Given the description of an element on the screen output the (x, y) to click on. 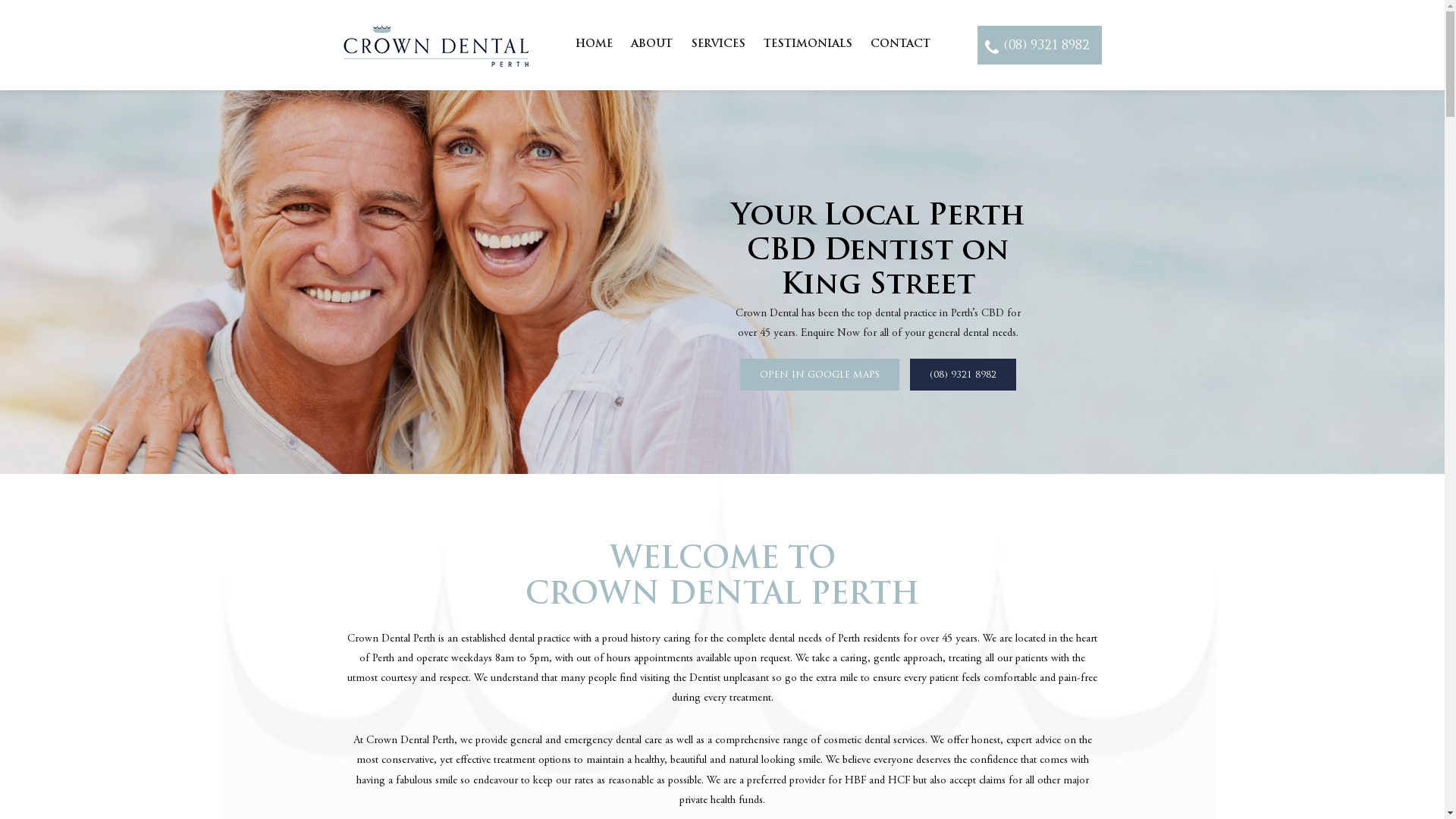
SERVICES Element type: text (717, 44)
Skip to content Element type: text (0, 0)
ABOUT Element type: text (651, 44)
CONTACT Element type: text (900, 44)
TESTIMONIALS Element type: text (807, 44)
HOME Element type: text (593, 44)
(08) 9321 8982 Element type: text (1038, 44)
(08) 9321 8982 Element type: text (963, 374)
OPEN IN GOOGLE MAPS Element type: text (819, 374)
